Given the description of an element on the screen output the (x, y) to click on. 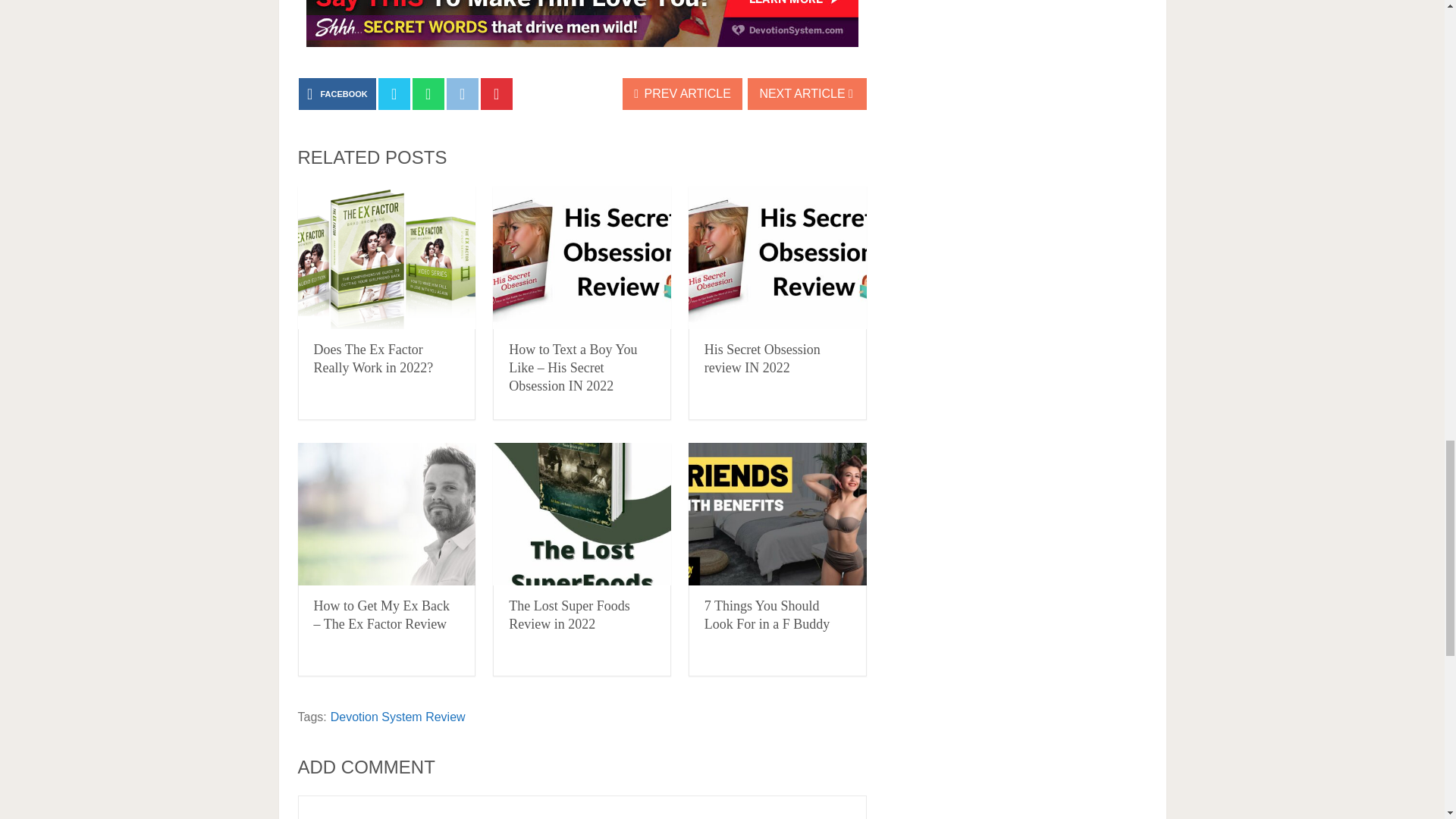
Does The Ex Factor Really Work in 2022? (373, 358)
His Secret Obsession review IN 2022 (762, 358)
His Secret Obsession review IN 2022 (777, 257)
The Lost Super Foods Review in 2022 (569, 614)
Does The Ex Factor Really Work in 2022? (386, 257)
PREV ARTICLE (682, 93)
FACEBOOK (336, 93)
Does The Ex Factor Really Work in 2022? (373, 358)
NEXT ARTICLE (807, 93)
